Given the description of an element on the screen output the (x, y) to click on. 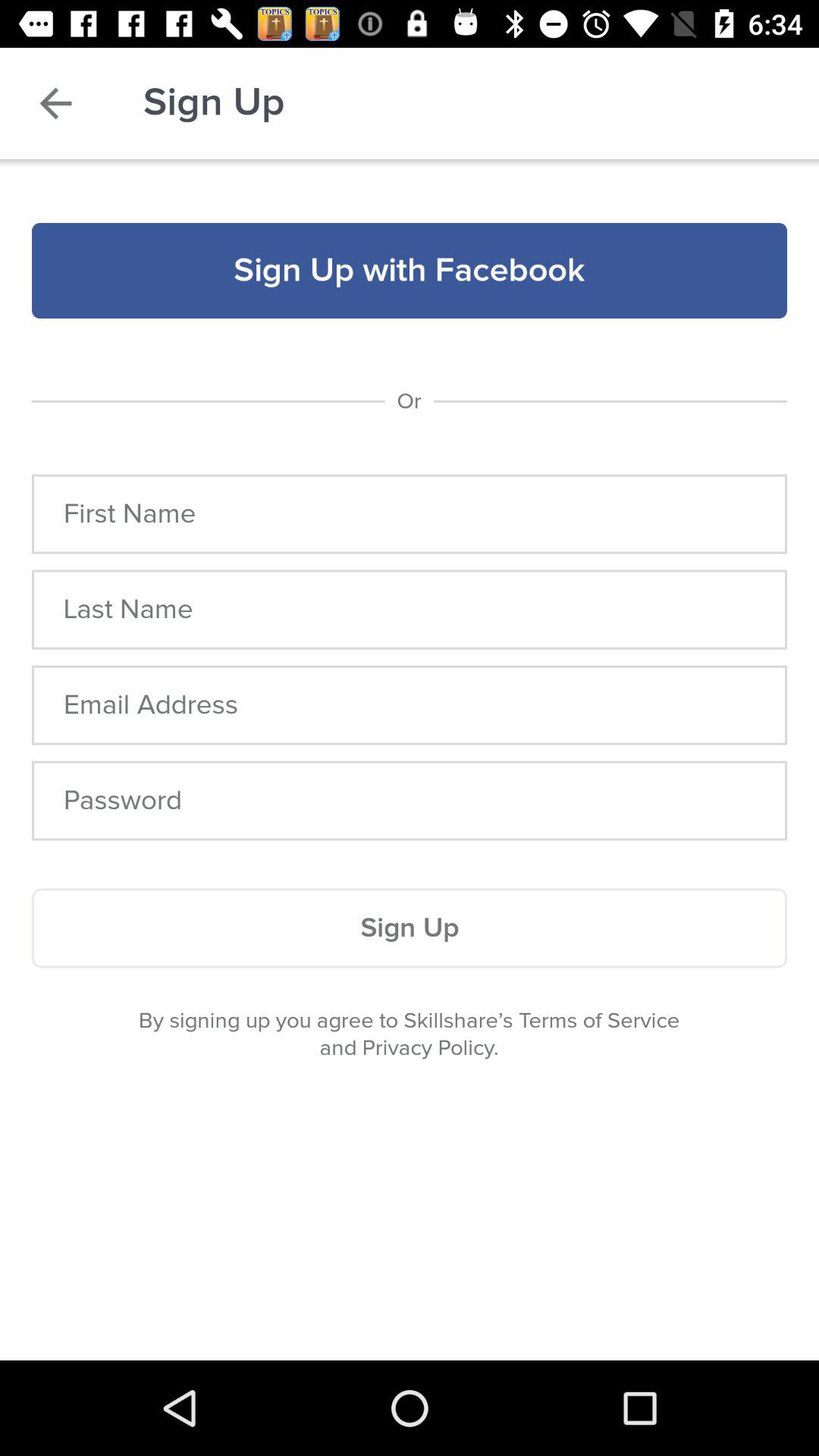
enter password (409, 800)
